Given the description of an element on the screen output the (x, y) to click on. 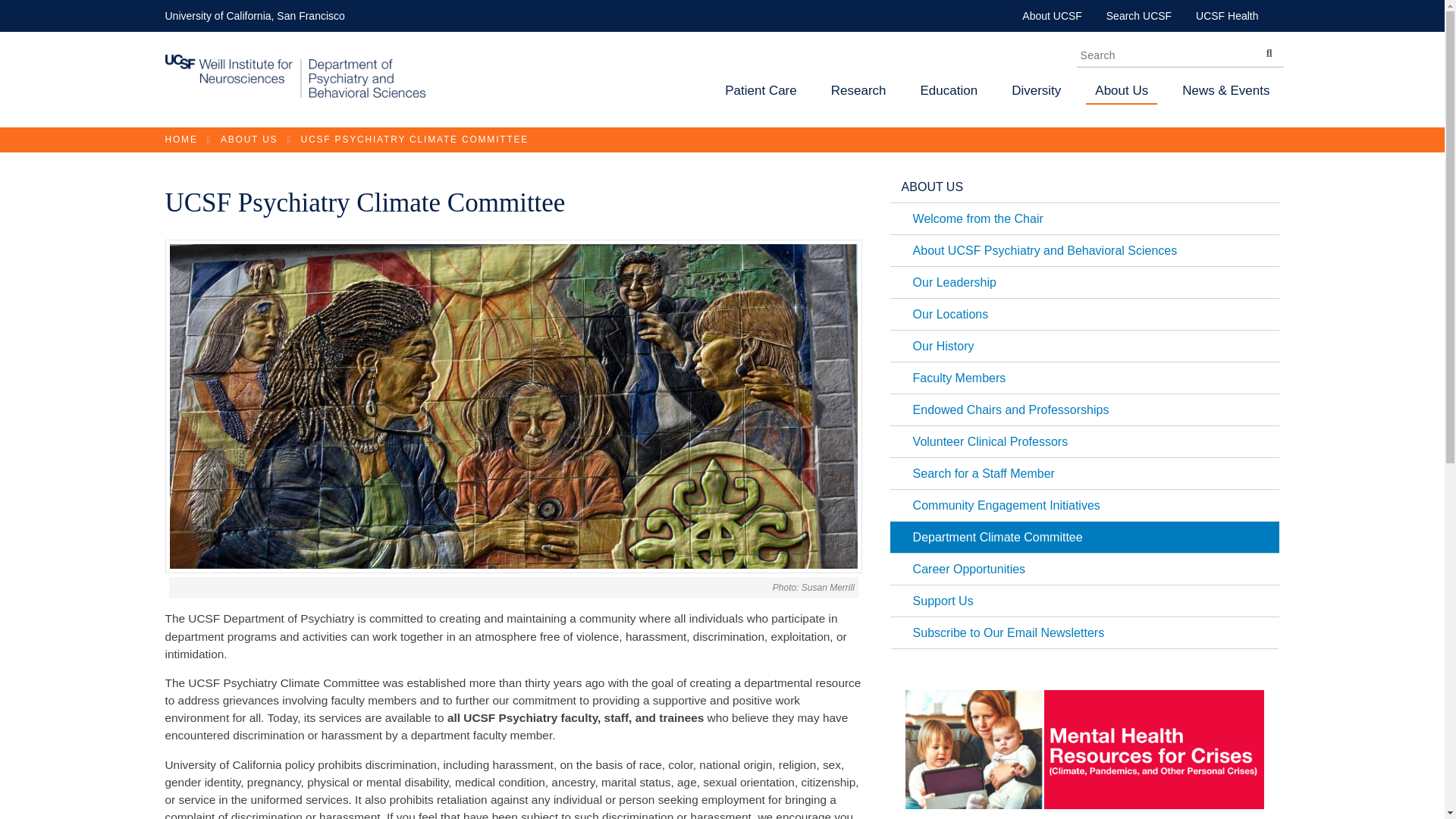
Search UCSF (1139, 15)
University of California, San Francisco (255, 15)
Support Us (1084, 601)
Diversity (1036, 93)
Education (949, 93)
Home (295, 96)
Enter the terms you wish to search for. (1180, 55)
Search (1268, 51)
Search (1268, 51)
